Given the description of an element on the screen output the (x, y) to click on. 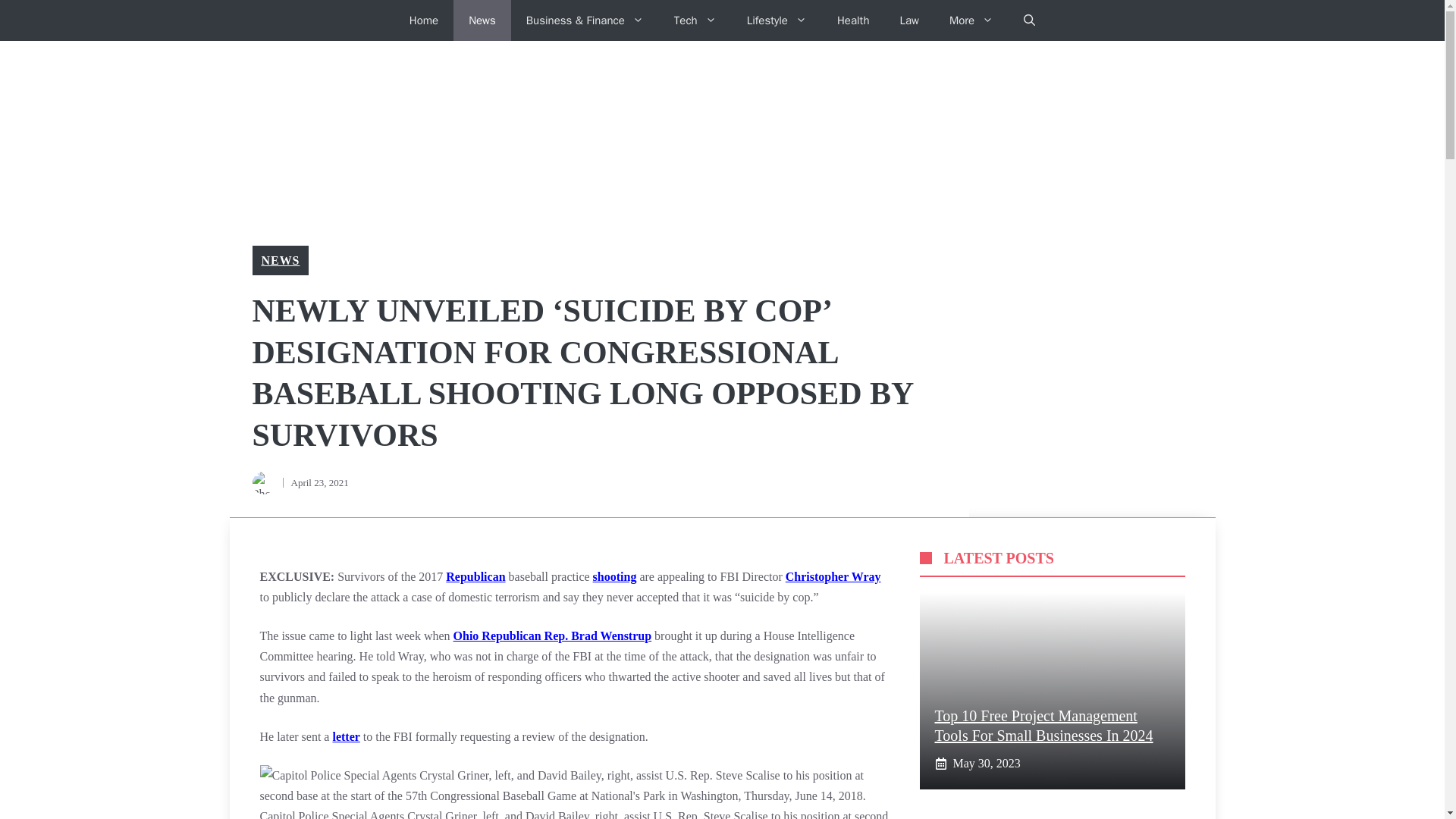
Lifestyle (777, 20)
Tech (695, 20)
Home (423, 20)
News (481, 20)
